Given the description of an element on the screen output the (x, y) to click on. 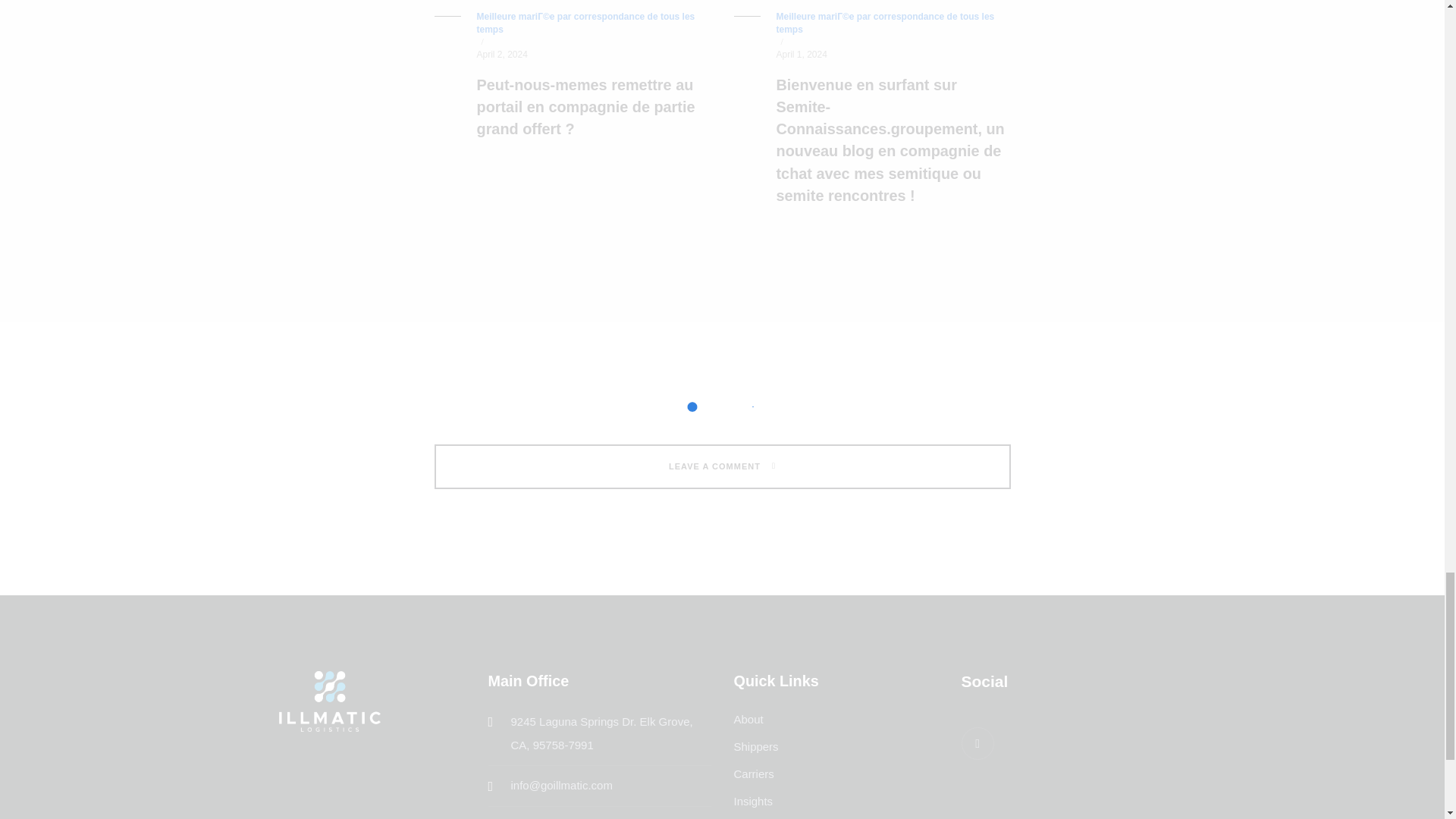
April 1, 2024 (801, 54)
April 2, 2024 (501, 54)
